Given the description of an element on the screen output the (x, y) to click on. 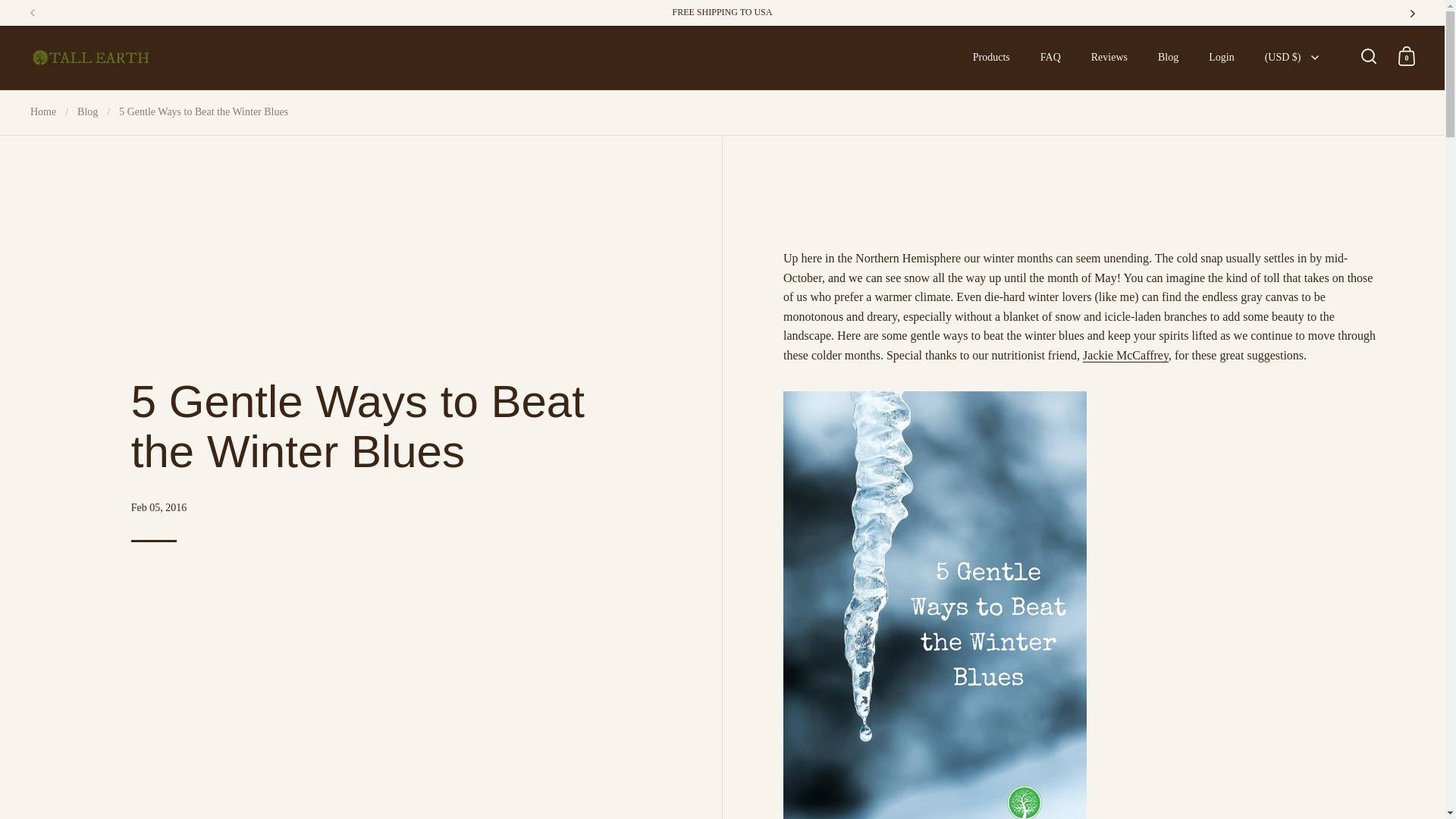
Blog (1167, 57)
Products (991, 57)
Home (43, 111)
Login (1221, 57)
Jackie McCaffrey (1126, 355)
FREE SHIPPING TO USA (722, 12)
Reviews (1108, 57)
Open cart (1406, 55)
FAQ (1050, 57)
